Given the description of an element on the screen output the (x, y) to click on. 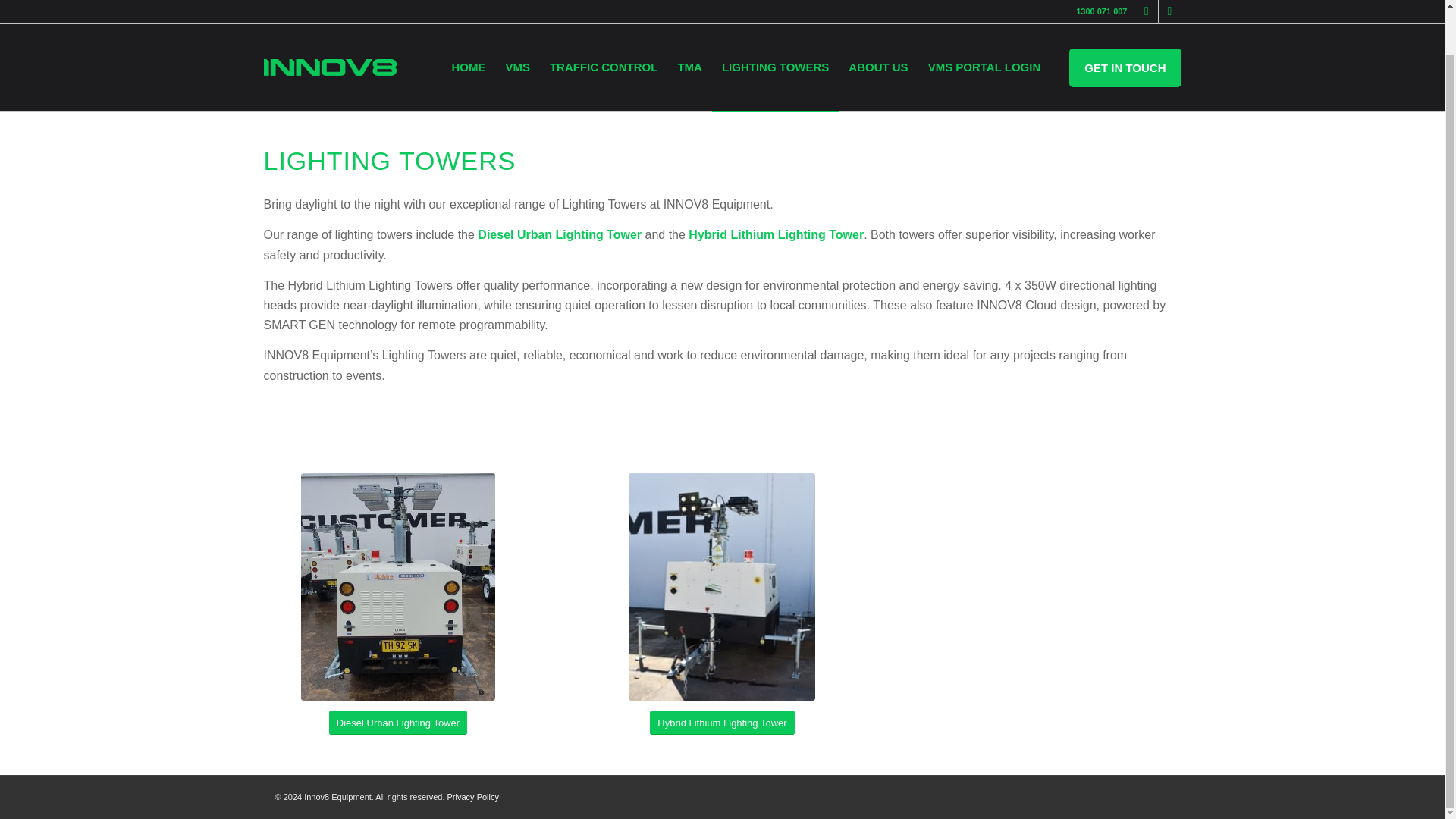
Diesel Urban Lighting Tower (559, 234)
Hybrid Lithium Lighting Tower (721, 722)
TRAFFIC CONTROL (603, 32)
GET IN TOUCH (1124, 20)
Lighting Towers (305, 85)
Diesel Urban Lighting Tower (398, 722)
VMS PORTAL LOGIN (984, 32)
Hybrid Lithium Lighting Tower (775, 234)
LIGHTING TOWERS (774, 32)
Permanent Link: Lighting Towers (305, 85)
